Given the description of an element on the screen output the (x, y) to click on. 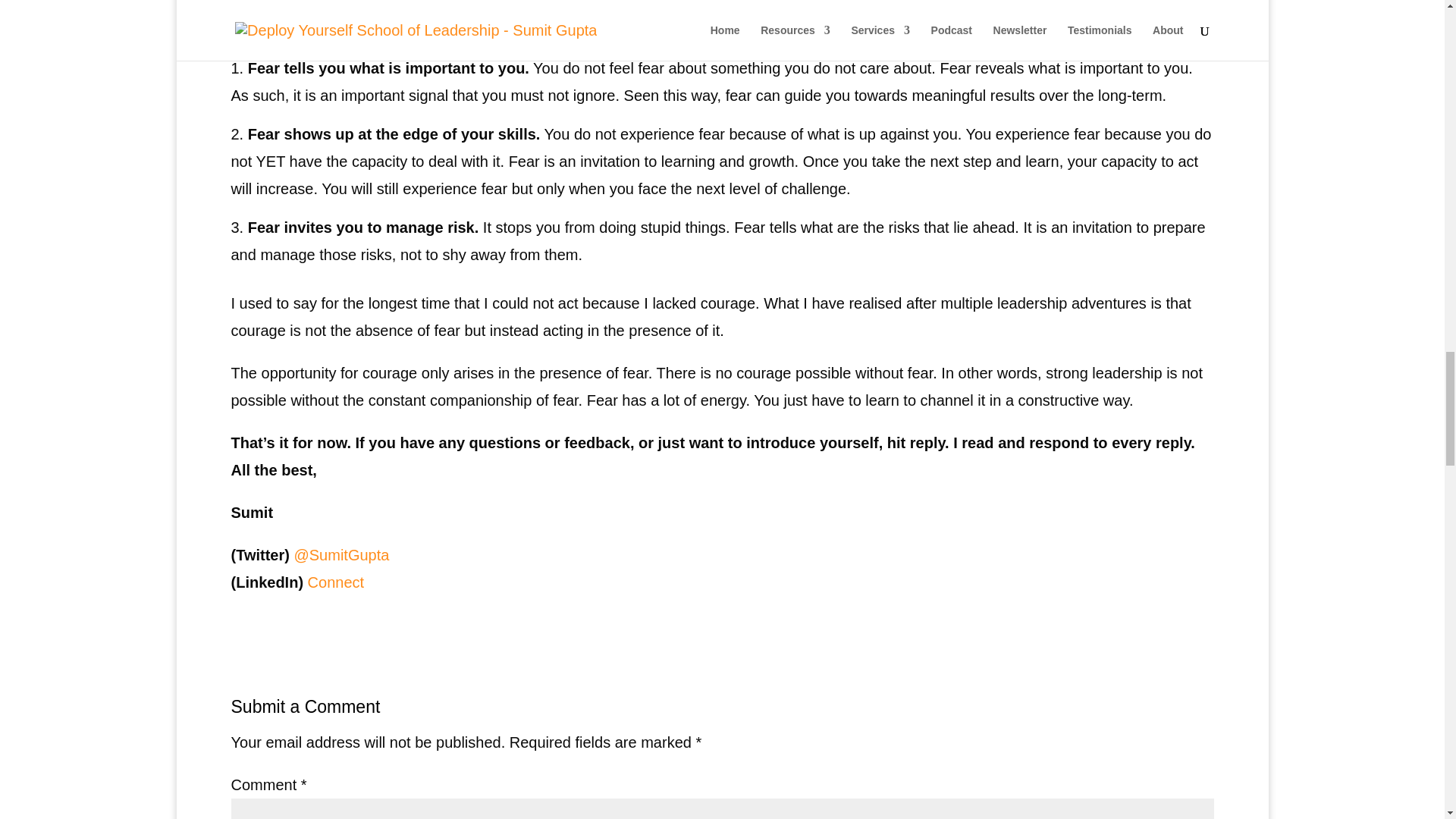
Connect (336, 582)
